Given the description of an element on the screen output the (x, y) to click on. 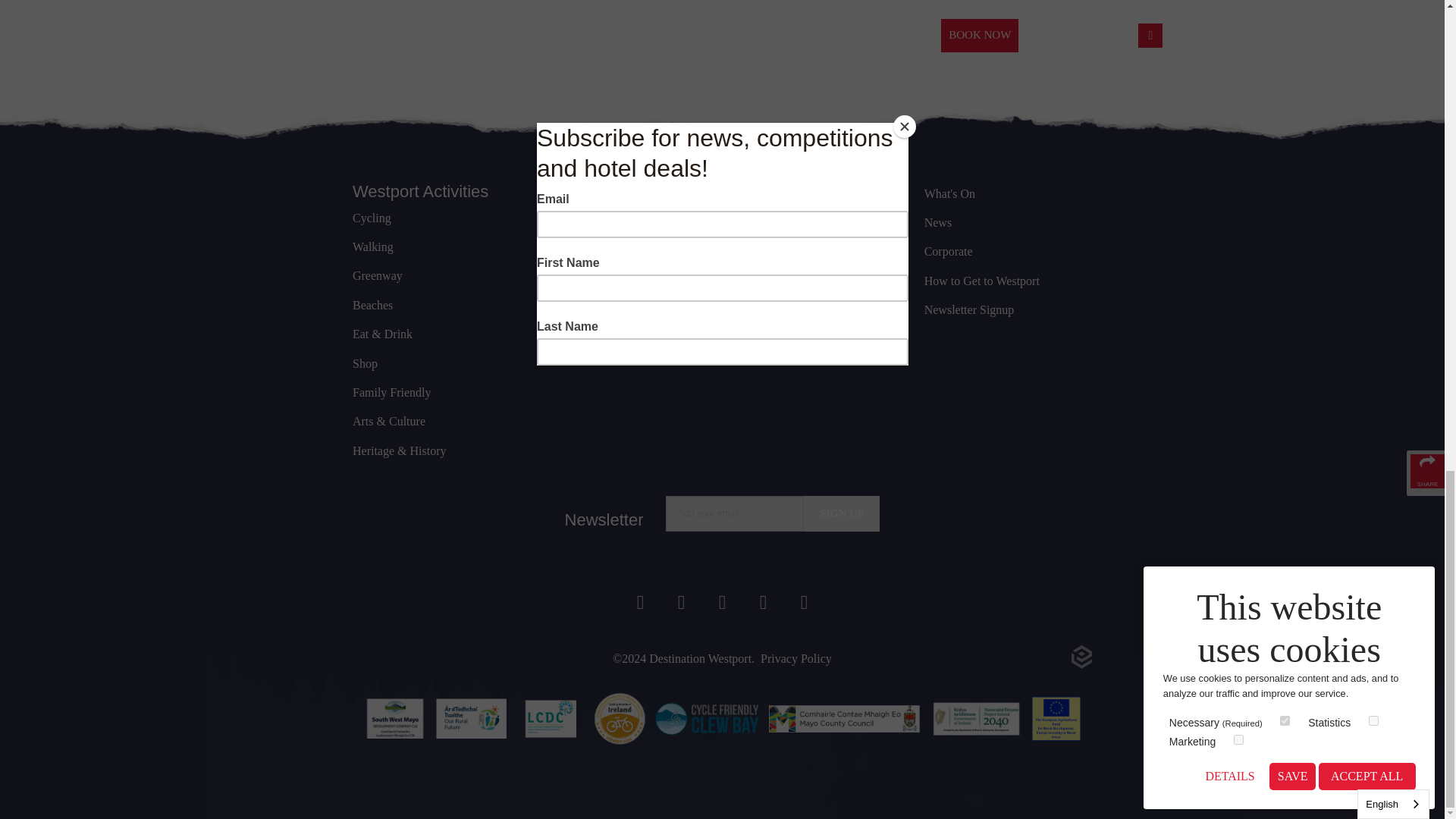
SIGN UP (841, 513)
